Given the description of an element on the screen output the (x, y) to click on. 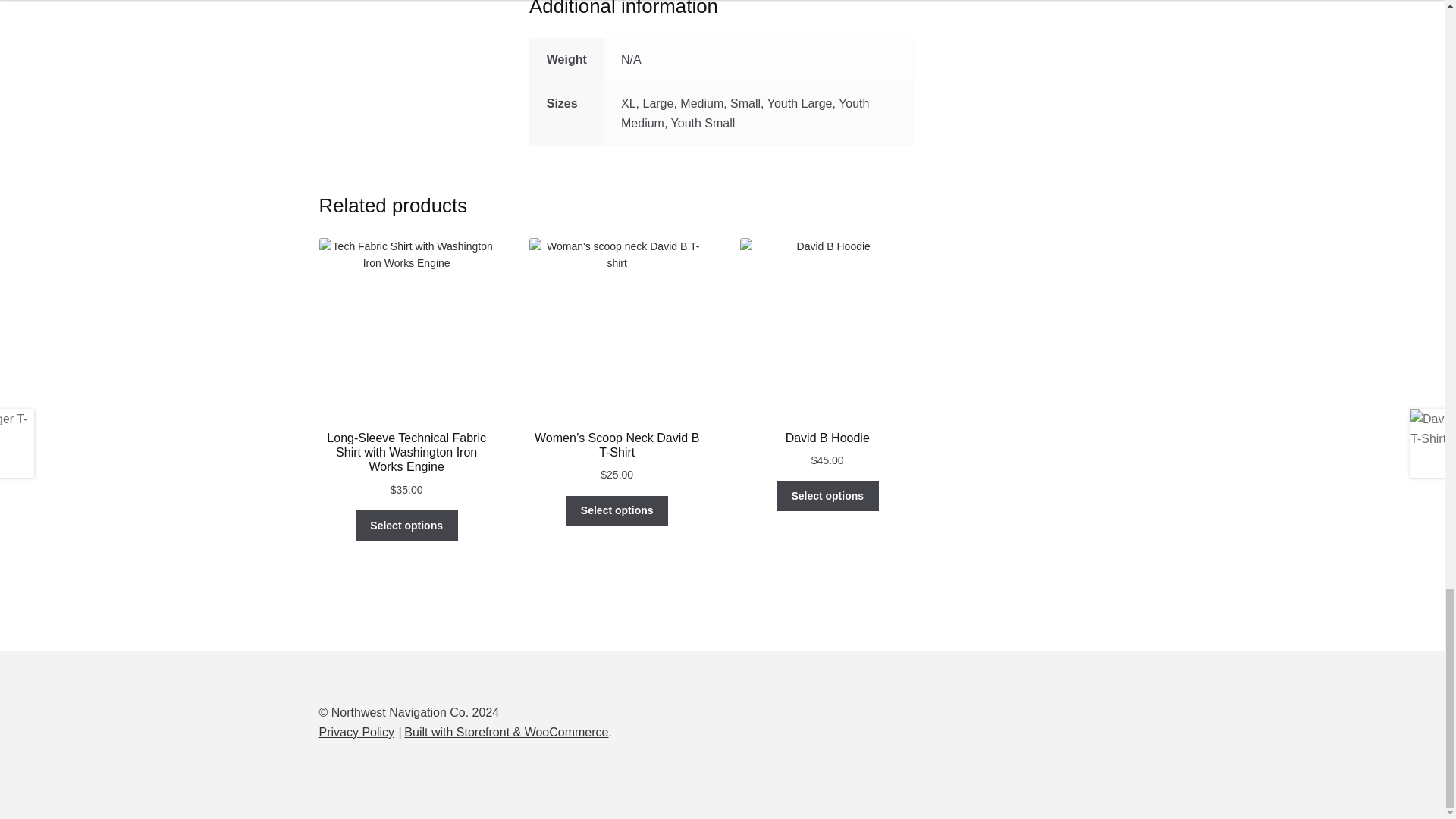
WooCommerce - The Best eCommerce Platform for WordPress (506, 731)
Select options (406, 525)
Select options (827, 495)
Select options (617, 511)
